Given the description of an element on the screen output the (x, y) to click on. 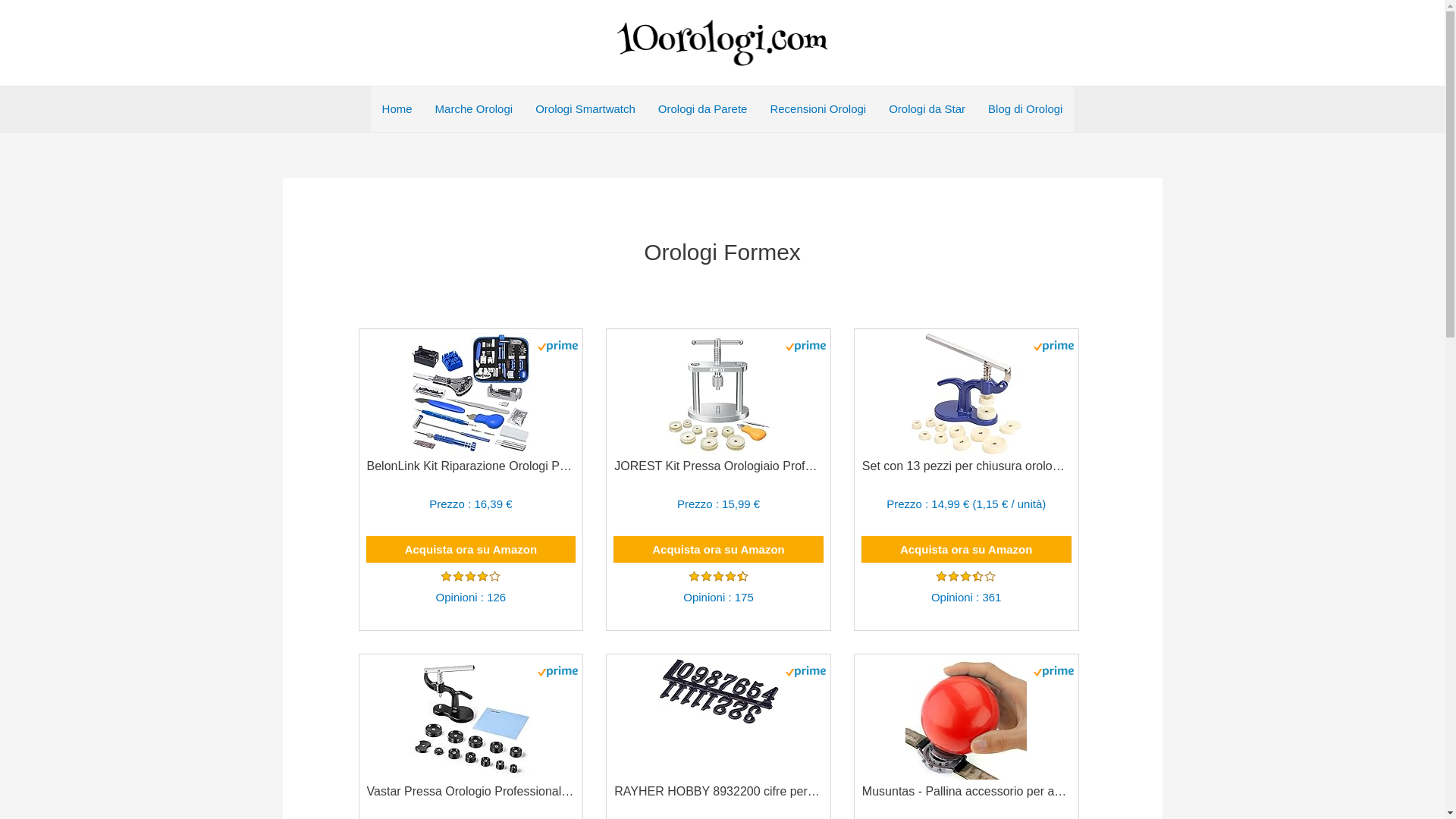
Acquista ora su Amazon Element type: text (718, 549)
126 Element type: text (495, 596)
Opinioni : Element type: text (956, 596)
Acquista ora su Amazon Element type: text (471, 549)
Orologi da Star Element type: text (926, 108)
Blog di Orologi Element type: text (1024, 108)
Recensioni Orologi Element type: text (817, 108)
175 Element type: text (743, 596)
Orologi da Parete Element type: text (702, 108)
Acquista ora su Amazon Element type: text (966, 549)
Home Element type: text (396, 108)
Opinioni : Element type: text (708, 596)
Orologi Smartwatch Element type: text (585, 108)
Opinioni : Element type: text (461, 596)
Marche Orologi Element type: text (473, 108)
361 Element type: text (991, 596)
